Given the description of an element on the screen output the (x, y) to click on. 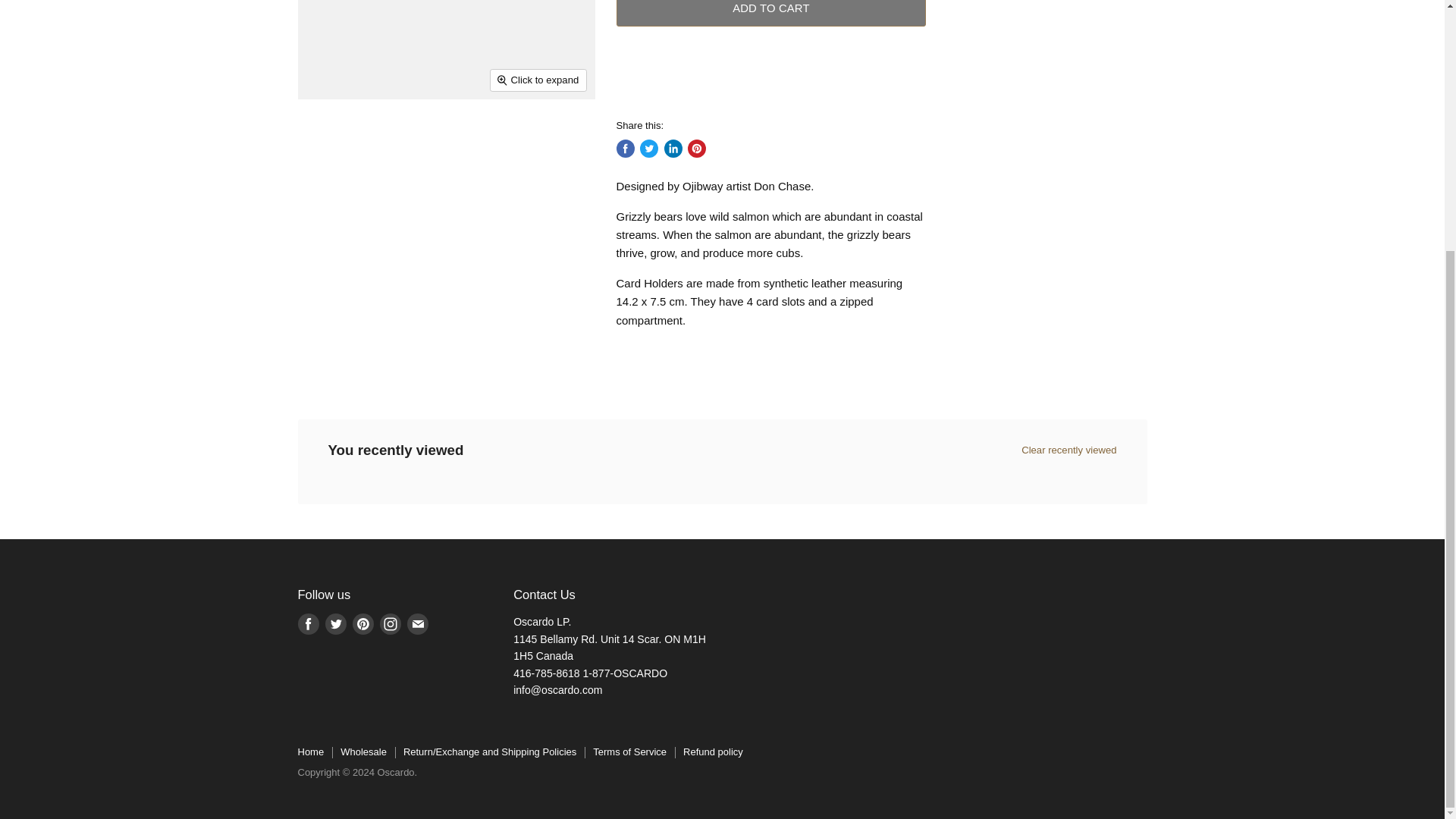
Instagram (389, 624)
Facebook (307, 624)
Pinterest (362, 624)
E-mail (416, 624)
Twitter (335, 624)
